Given the description of an element on the screen output the (x, y) to click on. 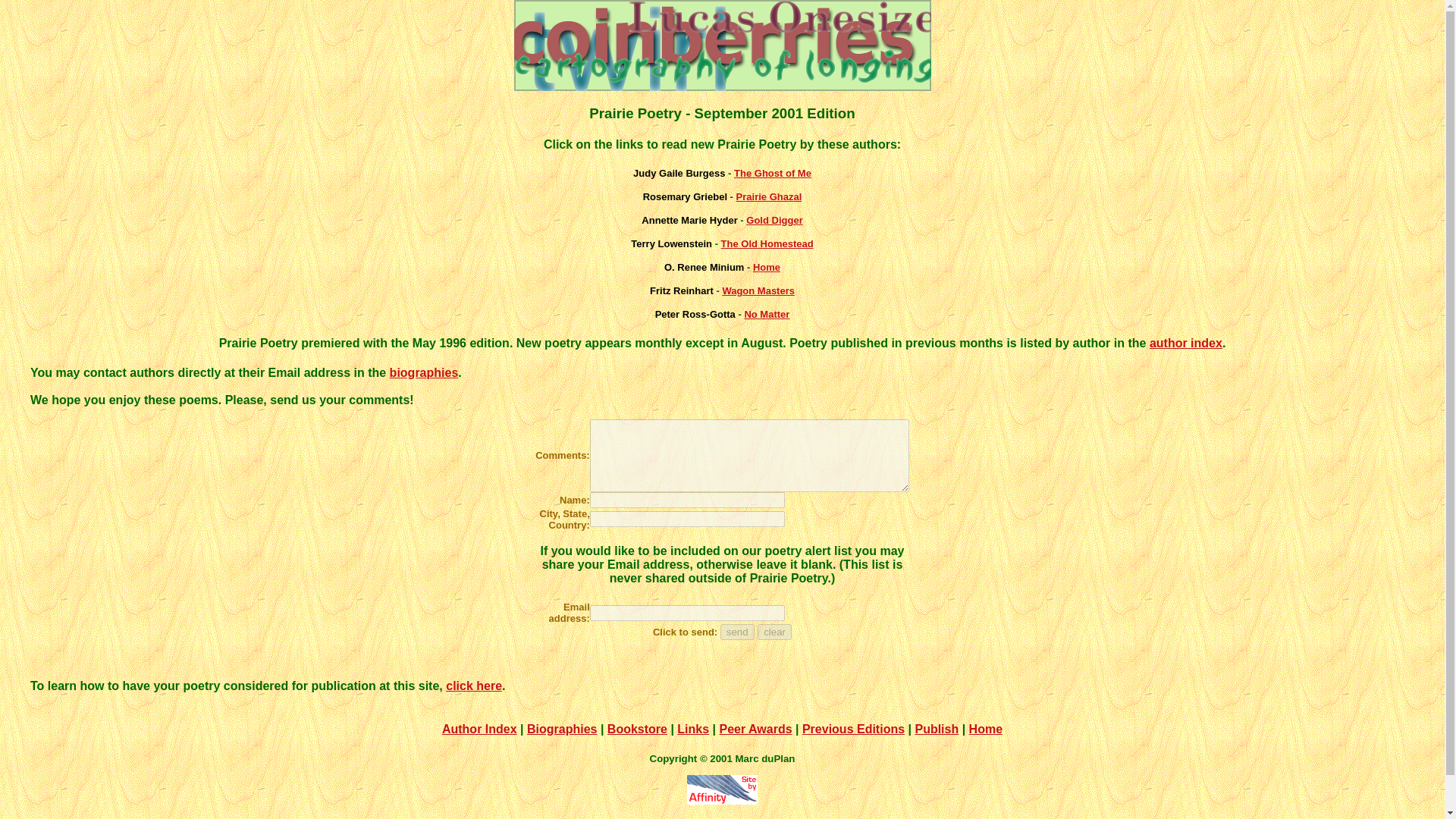
Wagon Masters (758, 290)
Home (766, 266)
Home (986, 728)
author index (1186, 342)
Bookstore (636, 728)
No Matter (766, 314)
send (737, 631)
send (737, 631)
The Ghost of Me (771, 173)
click here (473, 685)
Prairie Ghazal (769, 196)
Peer Awards (755, 728)
clear (774, 631)
biographies (424, 372)
The Old Homestead (766, 243)
